Given the description of an element on the screen output the (x, y) to click on. 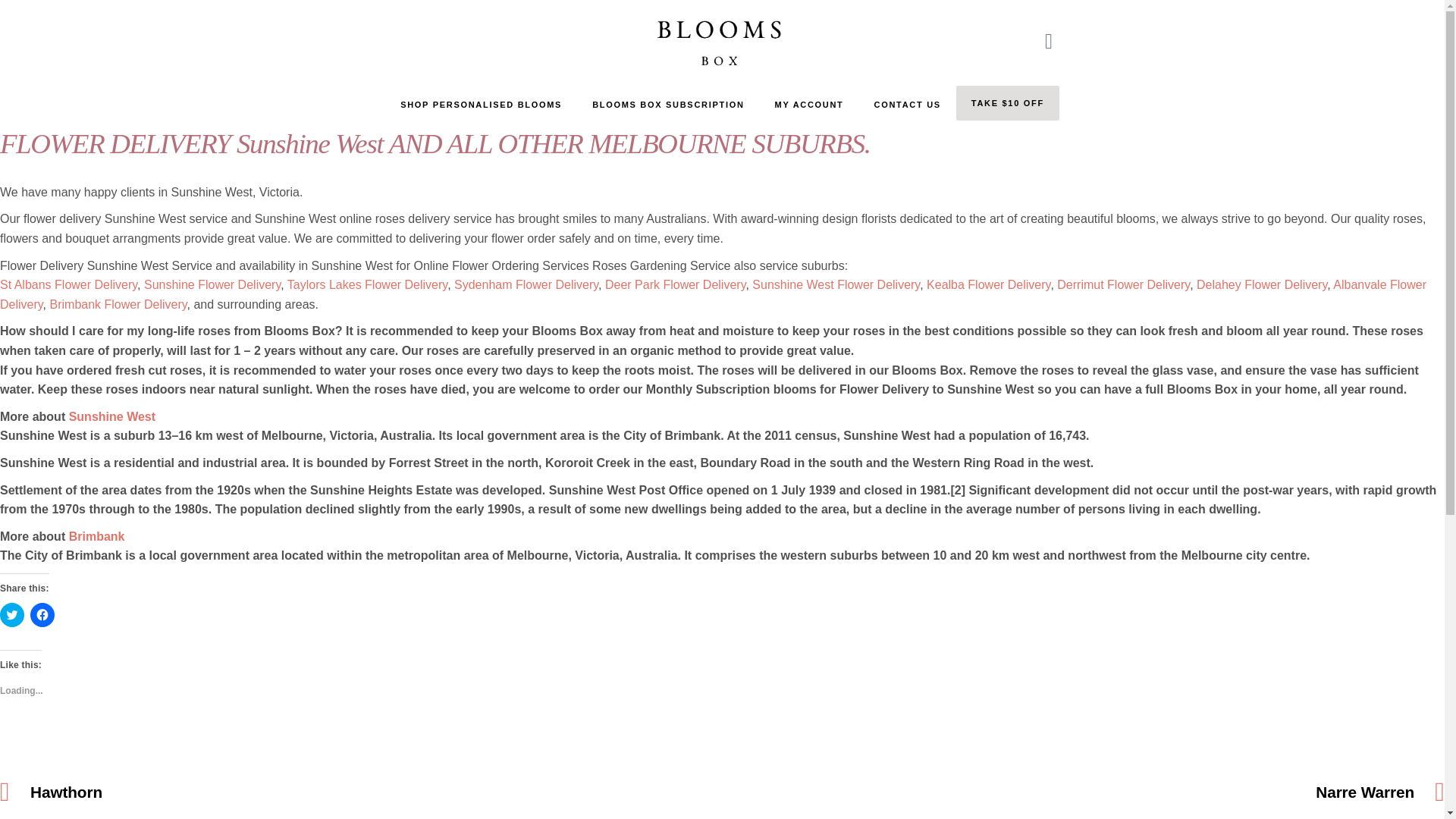
BLOOMS BOX SUBSCRIPTION (667, 104)
Taylors Lakes Flower Delivery (366, 284)
Kealba Flower Delivery (987, 284)
Brimbank (96, 535)
Deer Park Flower Delivery (675, 284)
Click to share on Twitter (12, 614)
MY ACCOUNT (809, 104)
Albanvale Flower Delivery (713, 294)
CONTACT US (907, 104)
Sunshine Flower Delivery (212, 284)
